Given the description of an element on the screen output the (x, y) to click on. 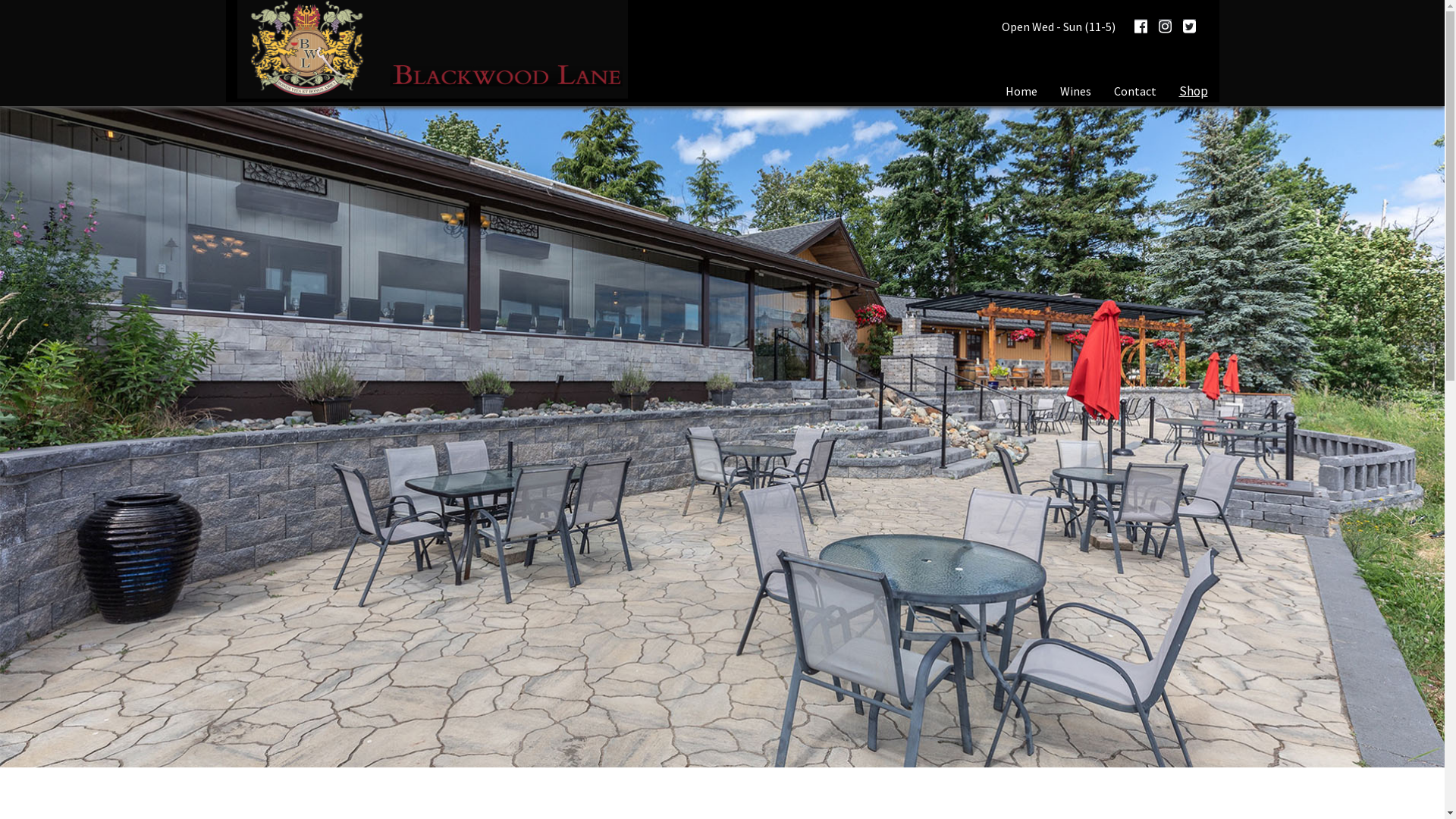
Home Element type: text (1021, 90)
Wines Element type: text (1075, 90)
Shop Element type: text (1192, 90)
Contact Element type: text (1134, 90)
